Given the description of an element on the screen output the (x, y) to click on. 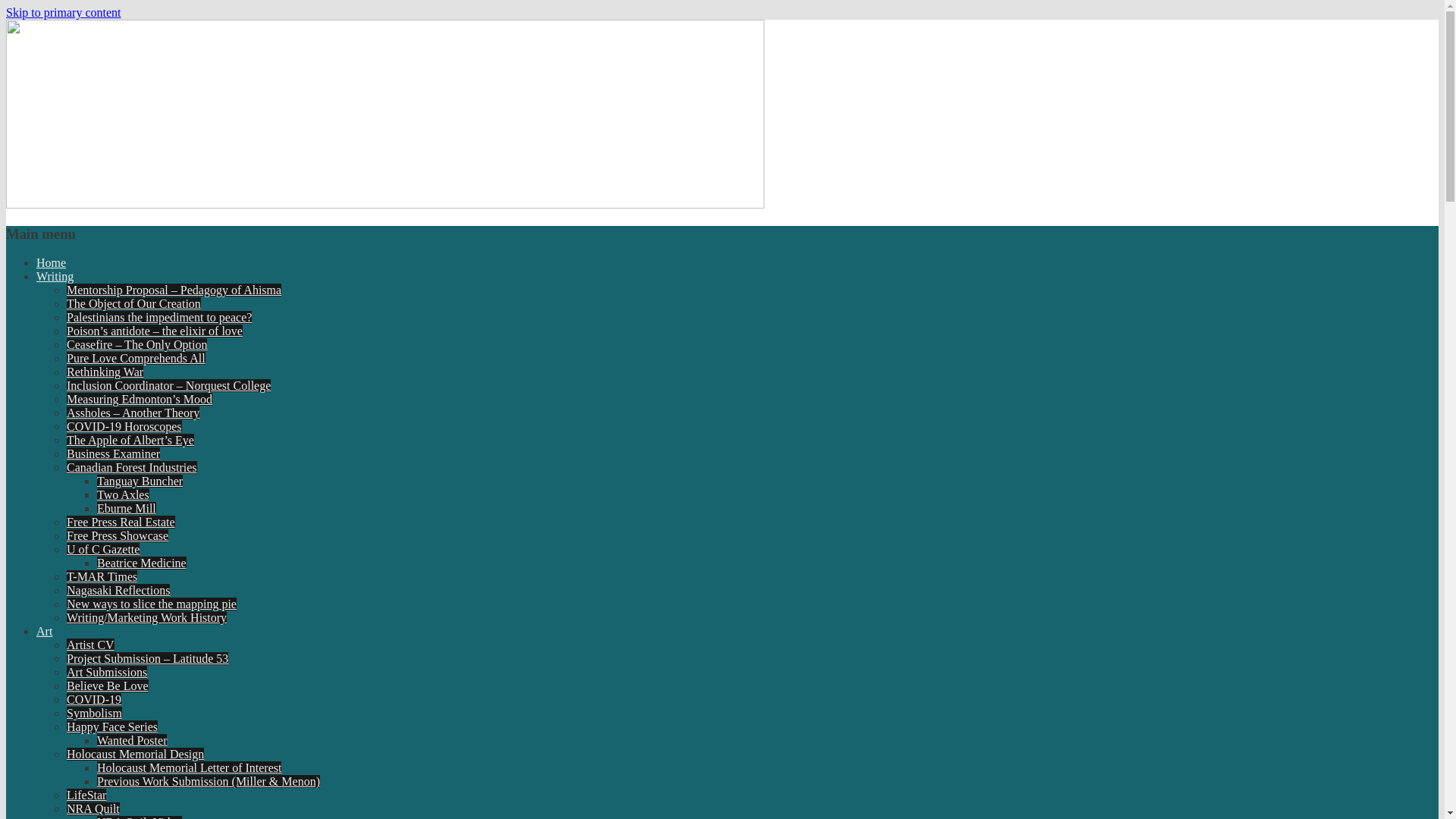
U of C Gazette (102, 549)
T-MAR Times (101, 576)
Nagasaki Reflections (118, 590)
Pure Love Comprehends All (135, 358)
Home (50, 262)
Art (44, 631)
COVID-19 (93, 698)
COVID-19 Horoscopes (124, 426)
Believe Be Love (107, 685)
Happy Face Series (111, 726)
